Given the description of an element on the screen output the (x, y) to click on. 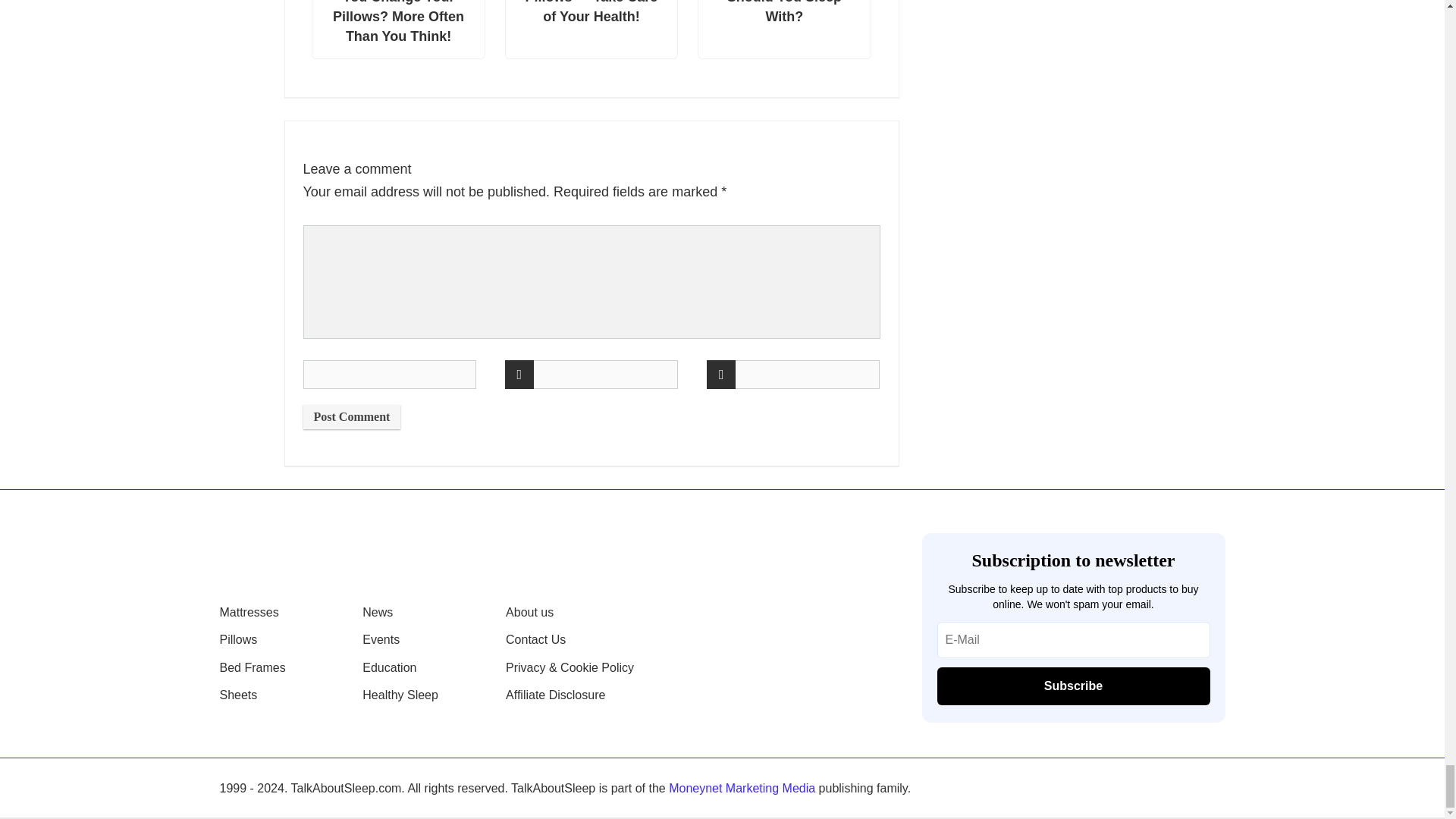
DMCA.com Protection Status (1088, 788)
